Given the description of an element on the screen output the (x, y) to click on. 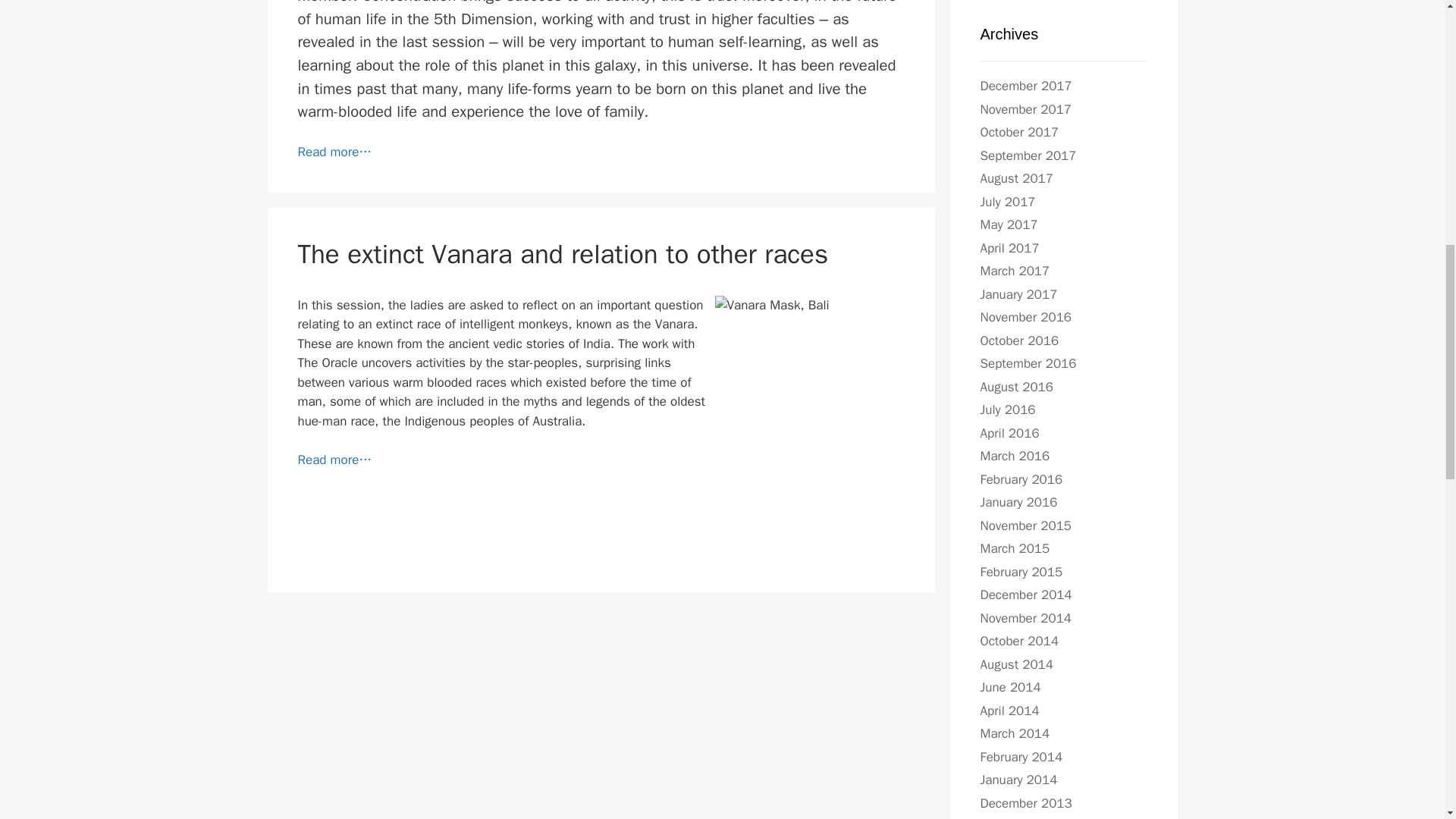
The Dragon Race (334, 151)
The extinct Vanara and relation to other races (334, 459)
The extinct Vanara and relation to other races (562, 254)
